Given the description of an element on the screen output the (x, y) to click on. 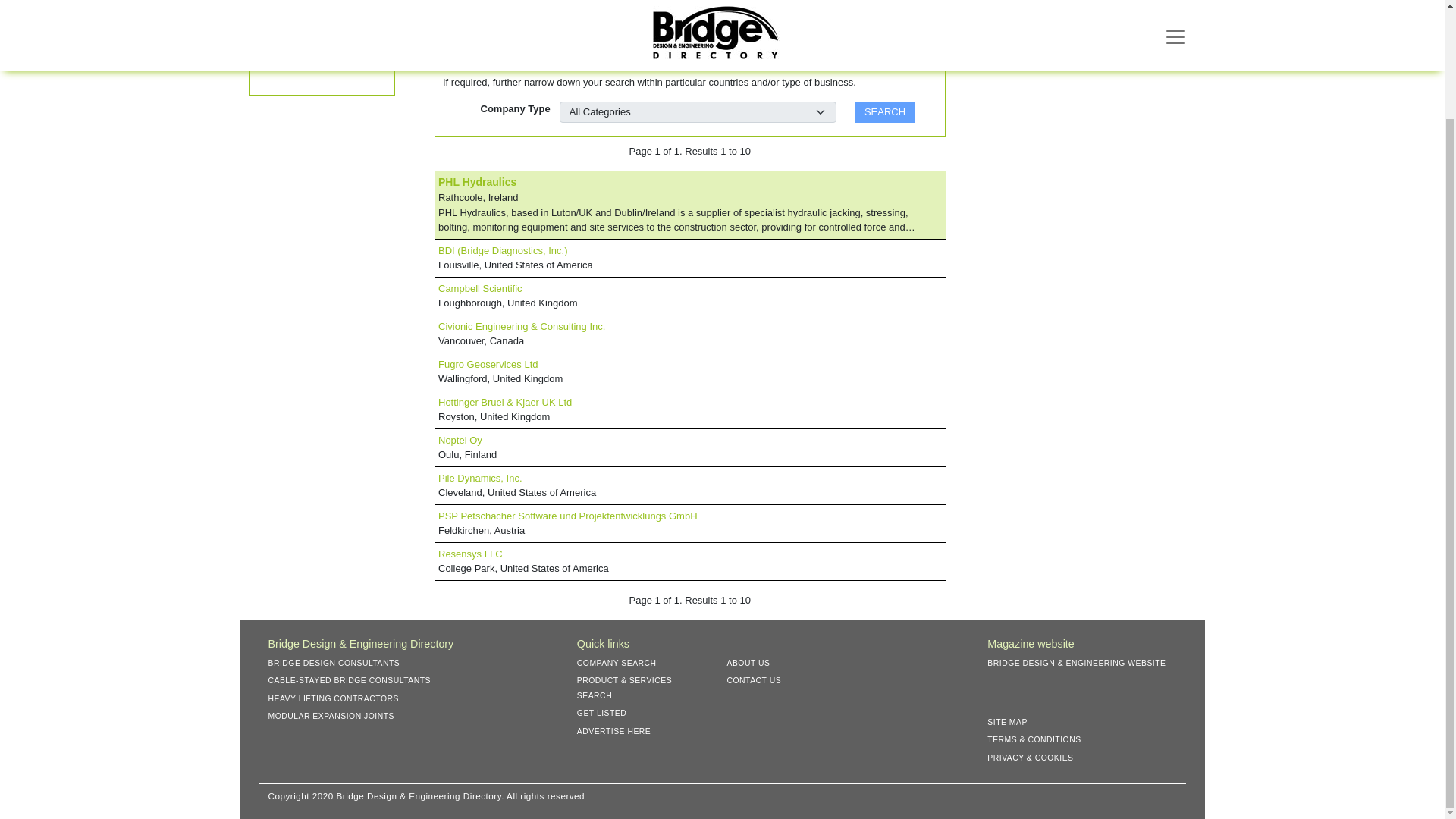
PSP Petschacher Software und Projektentwicklungs GmbH (567, 515)
Fugro Geoservices Ltd (488, 364)
Resensys LLC (470, 553)
Get listed (287, 66)
Campbell Scientific (480, 288)
ADVERTISE HERE (618, 731)
BRIDGE DESIGN CONSULTANTS (338, 663)
Noptel Oy (459, 439)
PHL Hydraulics (477, 182)
PHL Hydraulics (477, 182)
Campbell Scientific (480, 288)
Fugro Geoservices Ltd (488, 364)
CONTACT US (759, 680)
GET LISTED (606, 713)
Search by company (311, 12)
